Given the description of an element on the screen output the (x, y) to click on. 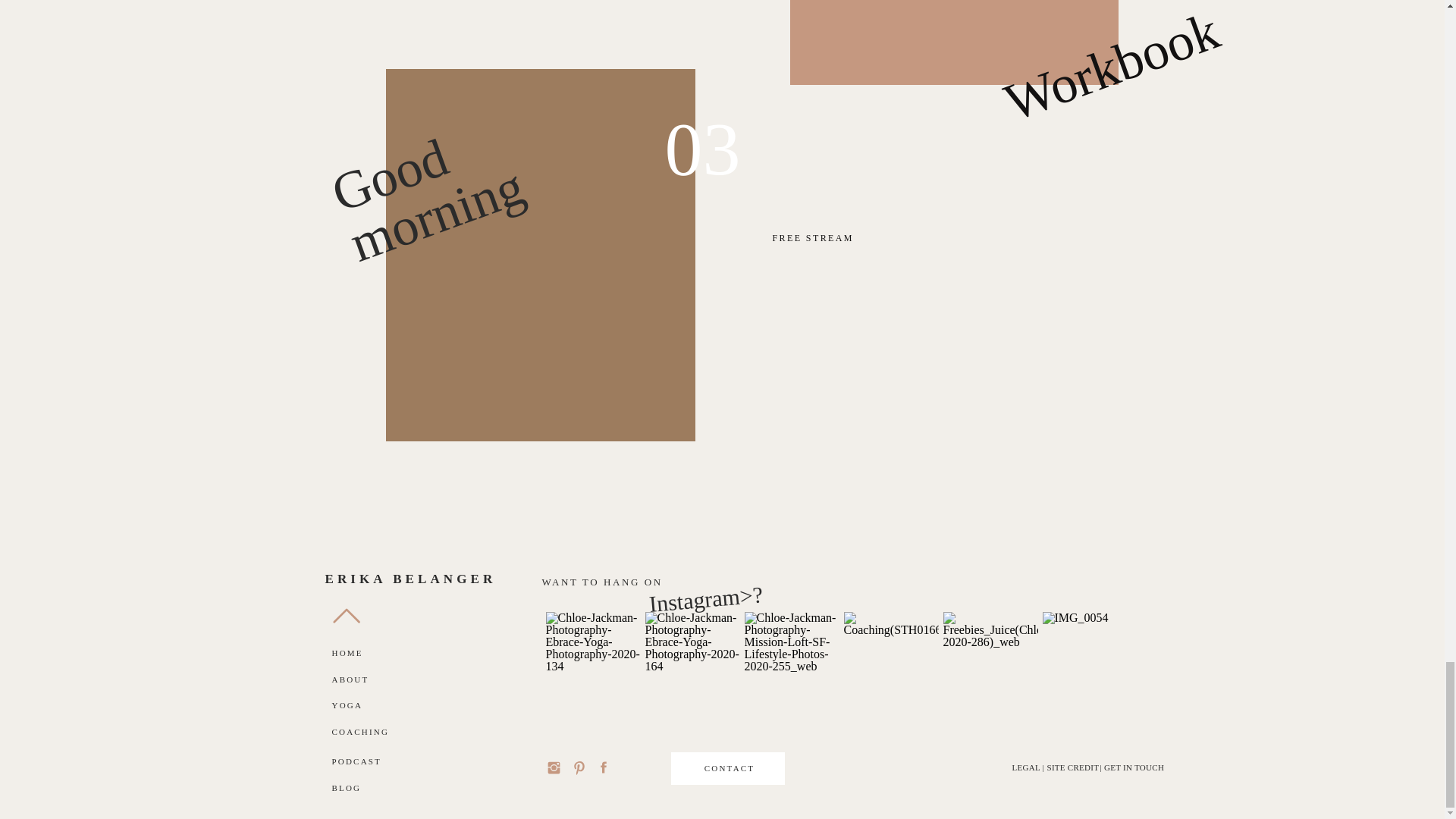
Chloe-Jackman-Photography-Ebrace-Yoga-Photography-2020-164 (692, 658)
Chloe-Jackman-Photography-Ebrace-Yoga-Photography-2020-134 (593, 658)
